Given the description of an element on the screen output the (x, y) to click on. 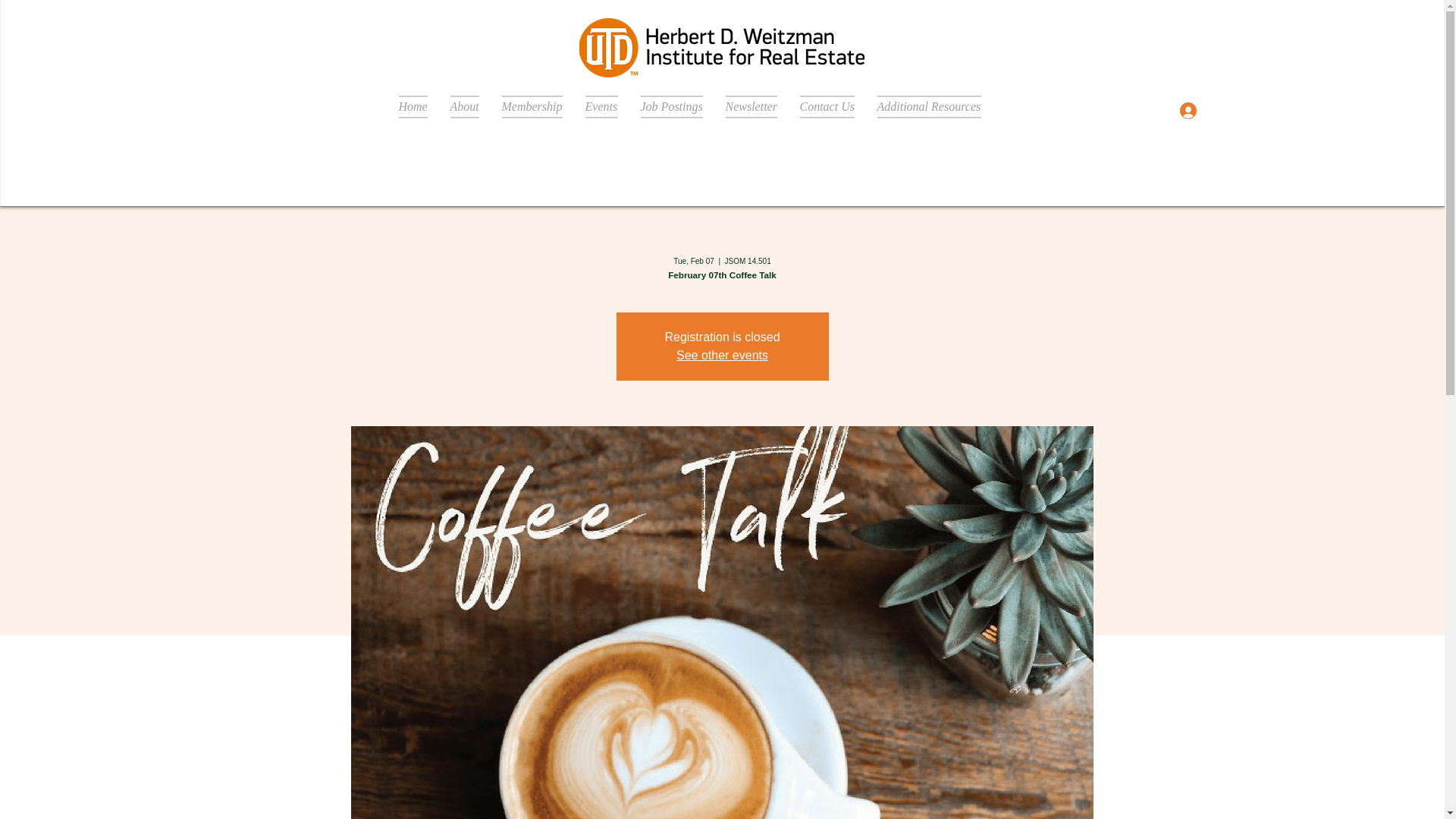
Log In (1203, 110)
About (463, 106)
Home (418, 106)
Job Postings (671, 106)
Newsletter (751, 106)
Contact Us (827, 106)
See other events (722, 354)
